Given the description of an element on the screen output the (x, y) to click on. 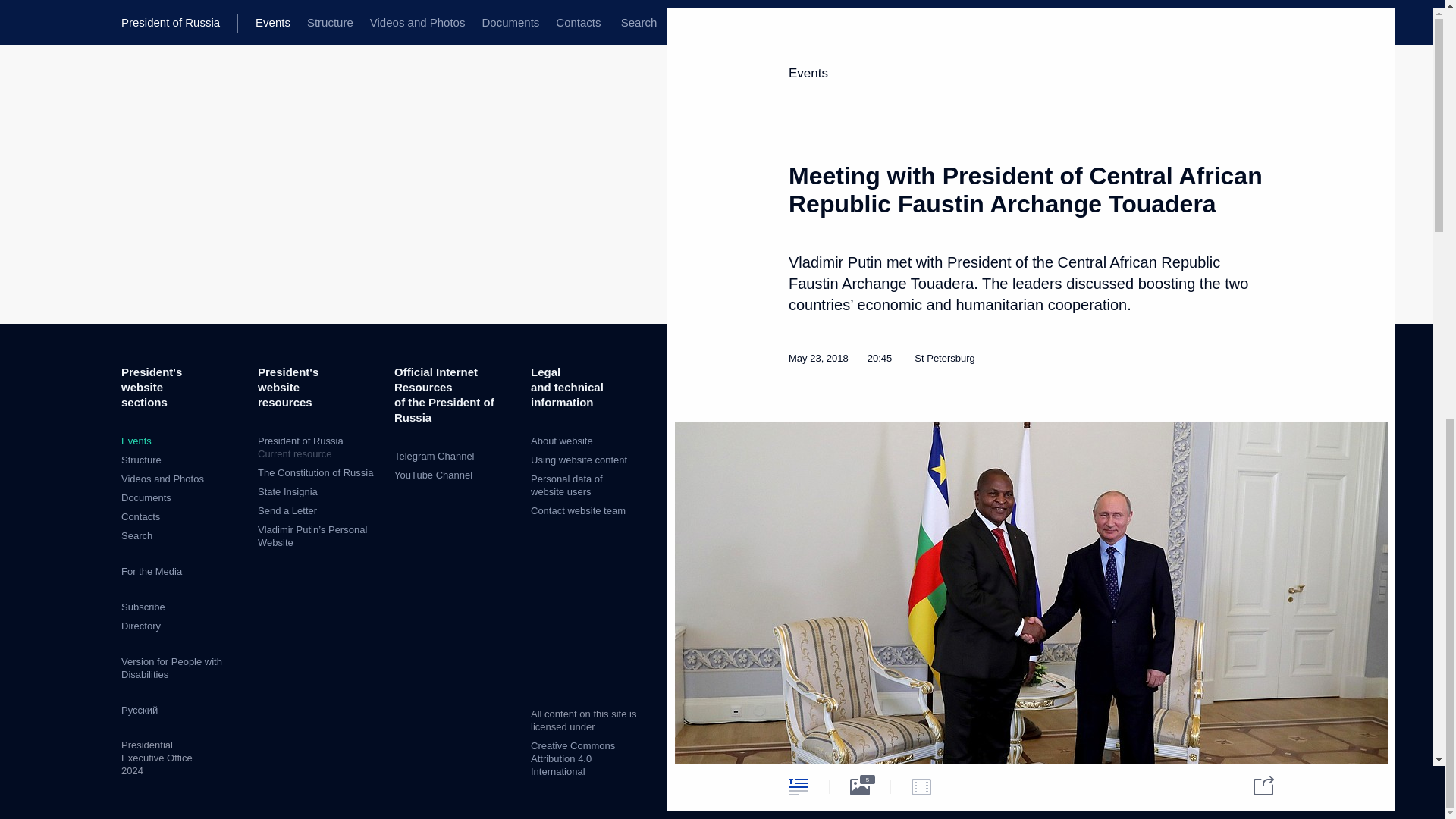
Structure (140, 460)
Events (135, 440)
Send a Letter (287, 510)
For the Media (151, 571)
Contact website team (578, 510)
Directory (140, 625)
Using website content (579, 460)
Telegram Channel (434, 455)
Contacts (140, 516)
Videos and Photos (161, 478)
